Given the description of an element on the screen output the (x, y) to click on. 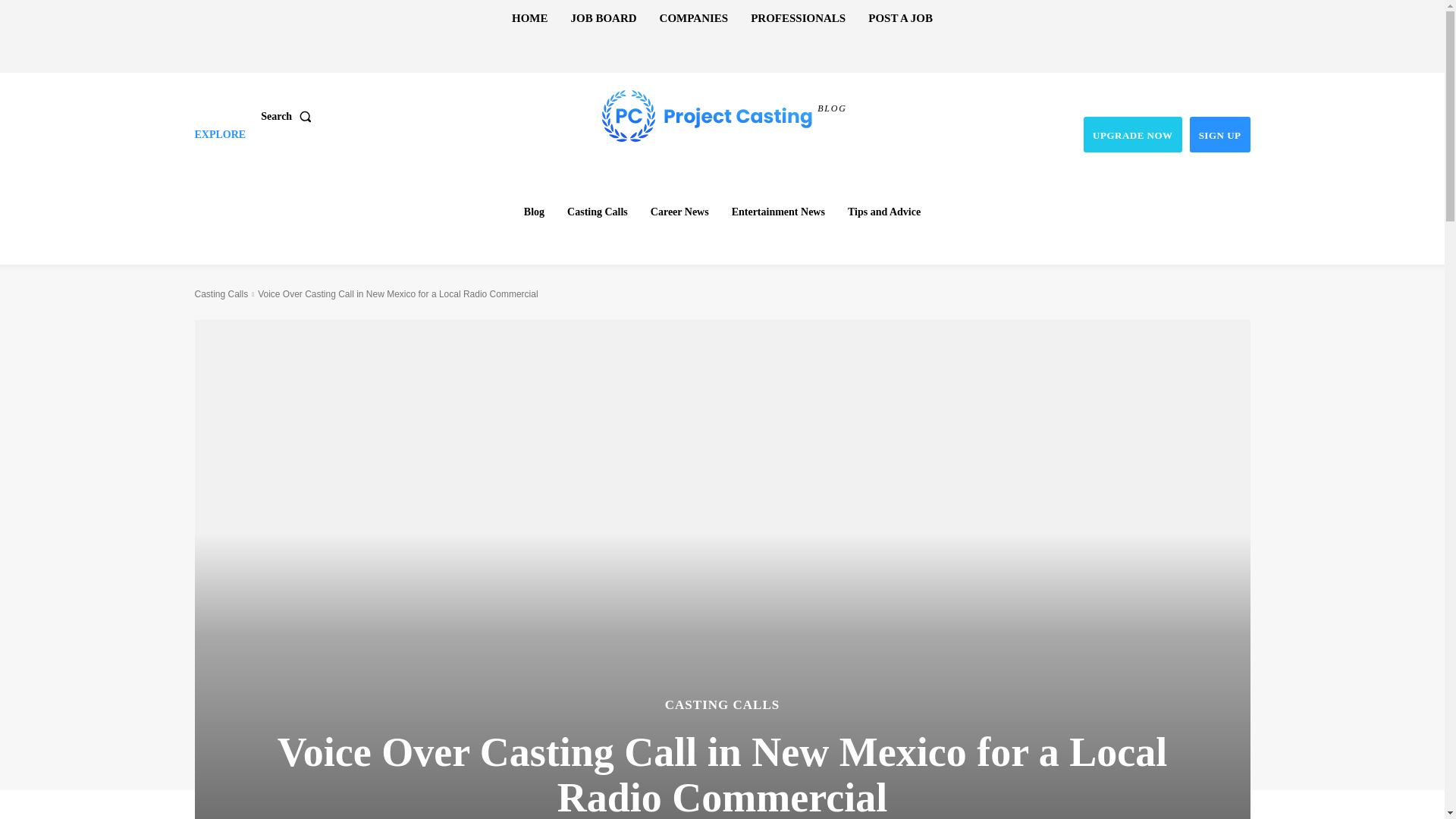
Sign Up (1219, 134)
Project Casting Blog (707, 115)
Tips and Advice (884, 212)
HOME (529, 18)
Entertainment News (777, 212)
Casting Calls (596, 212)
UPGRADE NOW (1132, 134)
Blog (533, 212)
BLOG (724, 115)
SIGN UP (1219, 134)
